Given the description of an element on the screen output the (x, y) to click on. 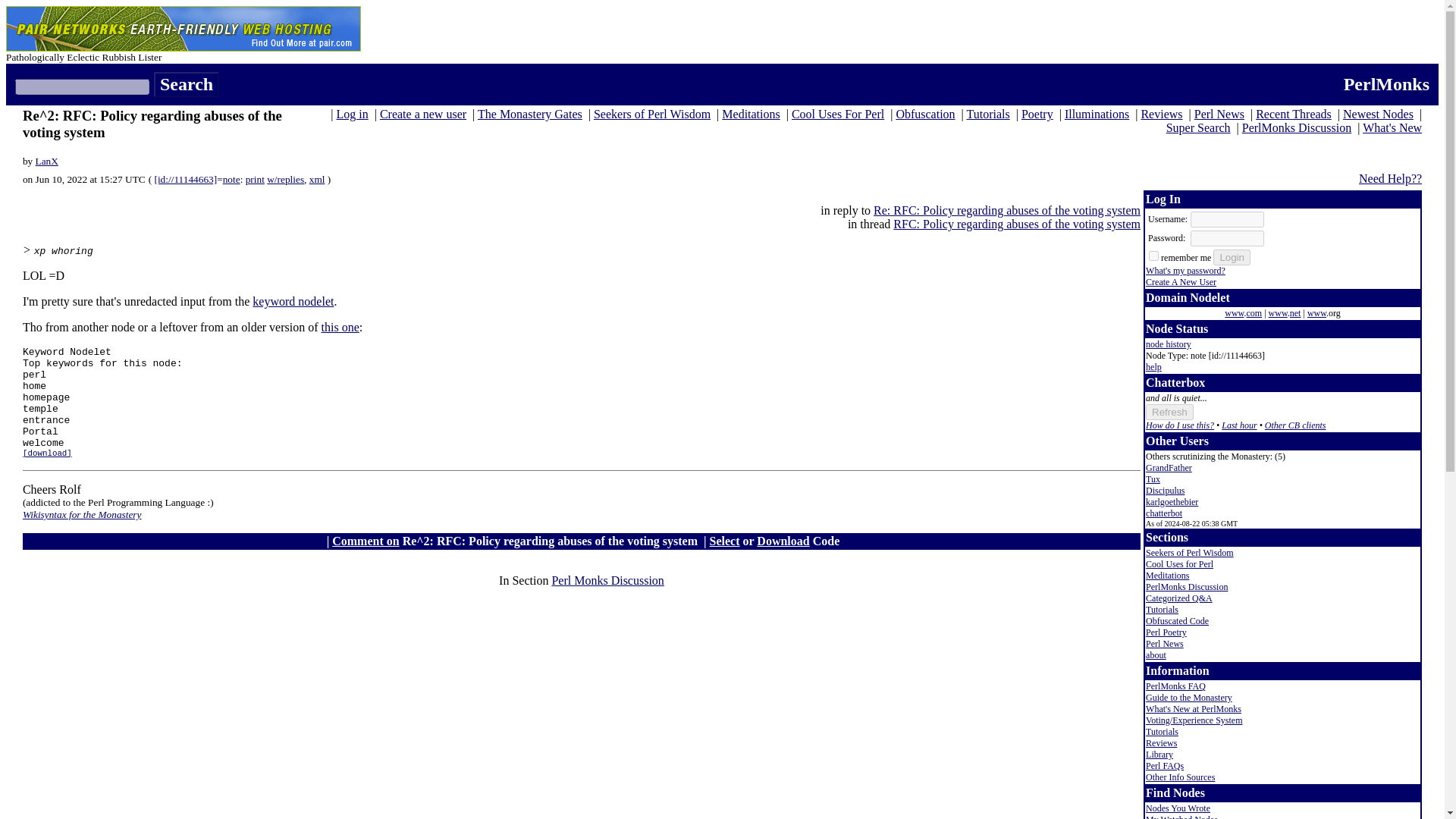
Re: RFC: Policy regarding abuses of the voting system (1006, 210)
Reviews (1161, 113)
Seekers of Perl Wisdom (652, 113)
PerlMonks Discussion (1296, 127)
Create a new user (422, 113)
Select (724, 540)
What's my password? (1185, 270)
Perl News (1218, 113)
Tux's home node. Level 20 (1152, 479)
Cool Uses For Perl (837, 113)
